Given the description of an element on the screen output the (x, y) to click on. 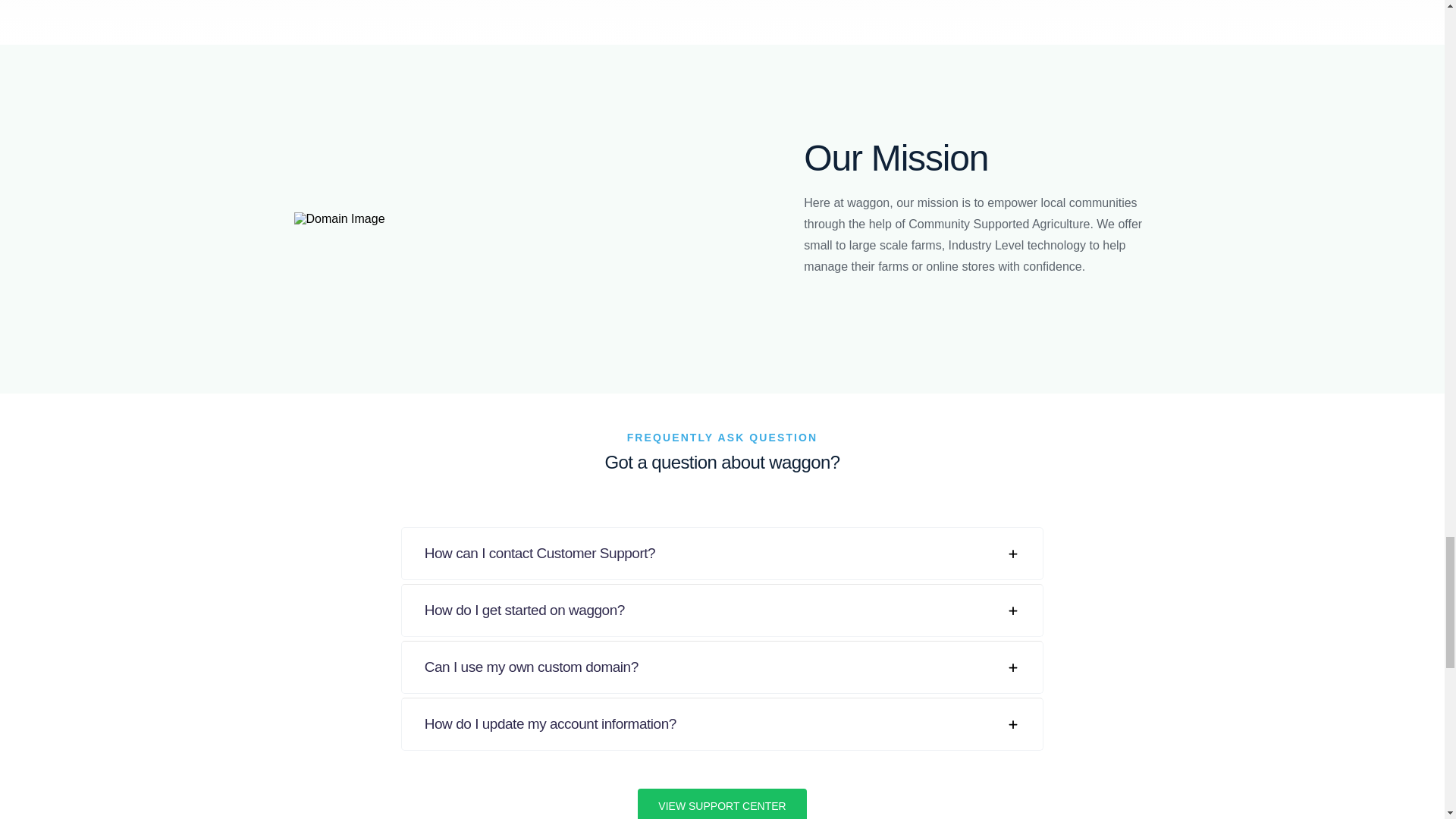
VIEW SUPPORT CENTER (721, 803)
